Given the description of an element on the screen output the (x, y) to click on. 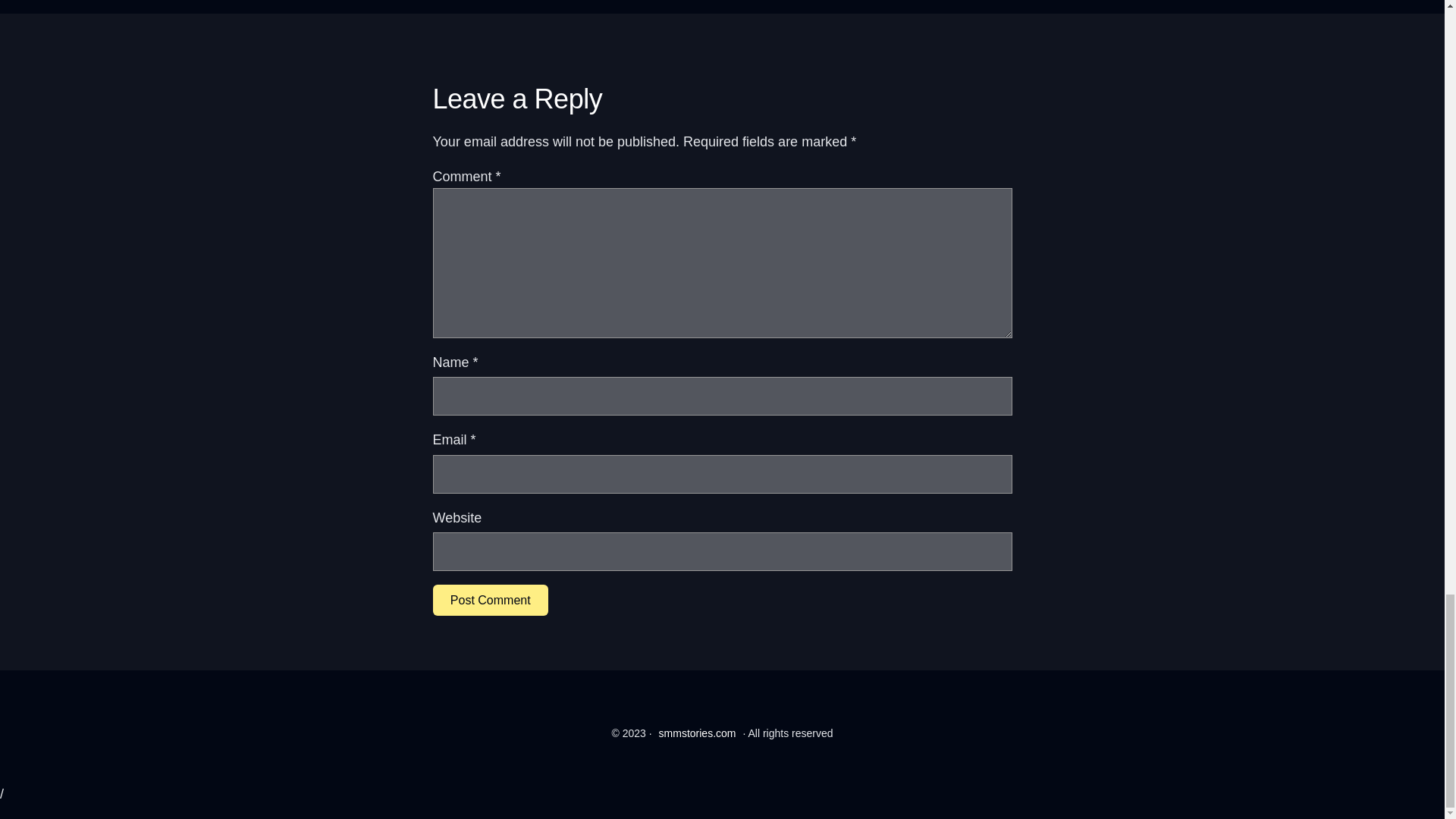
Post Comment (489, 599)
